Given the description of an element on the screen output the (x, y) to click on. 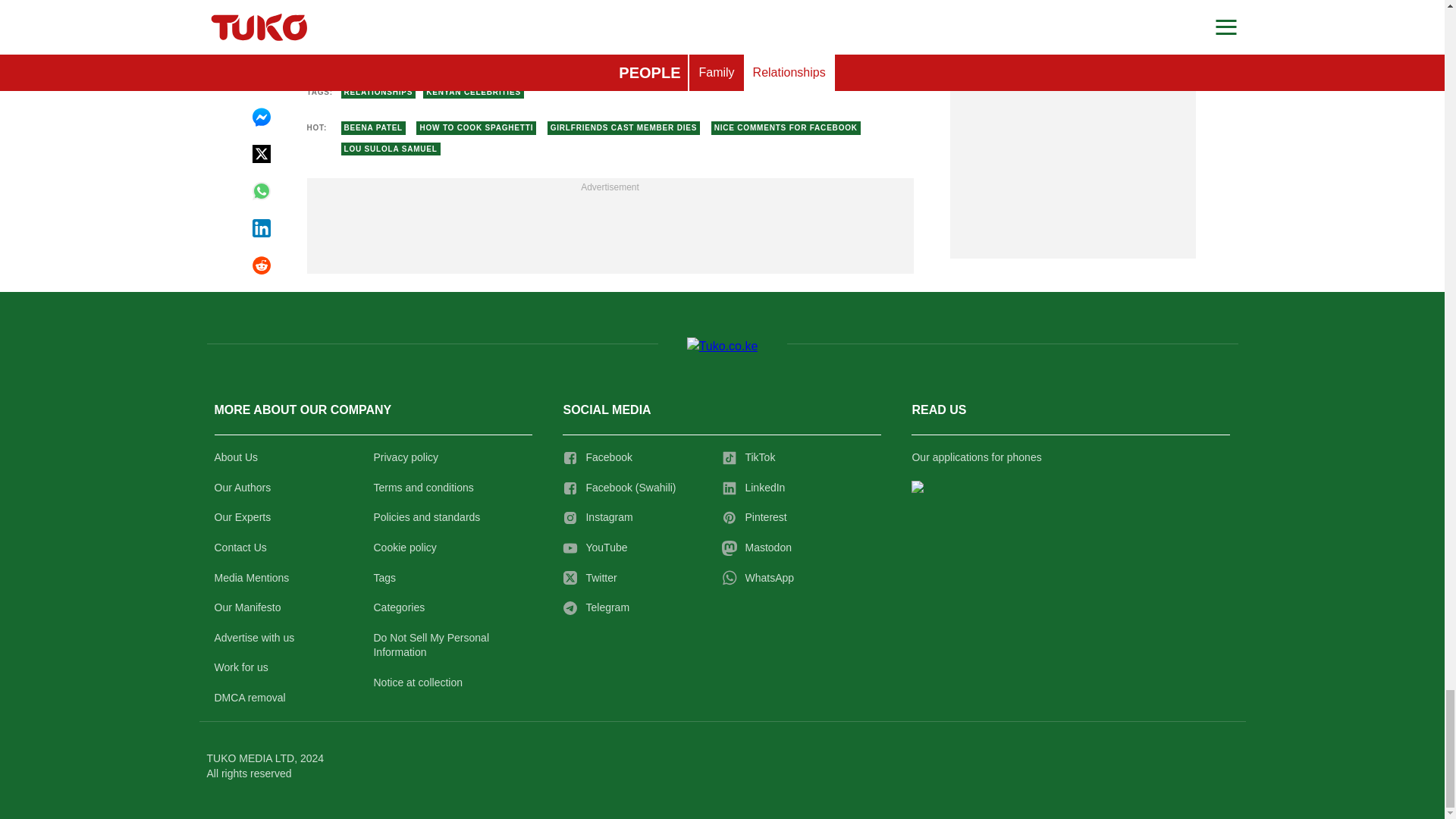
Author page (533, 42)
